Given the description of an element on the screen output the (x, y) to click on. 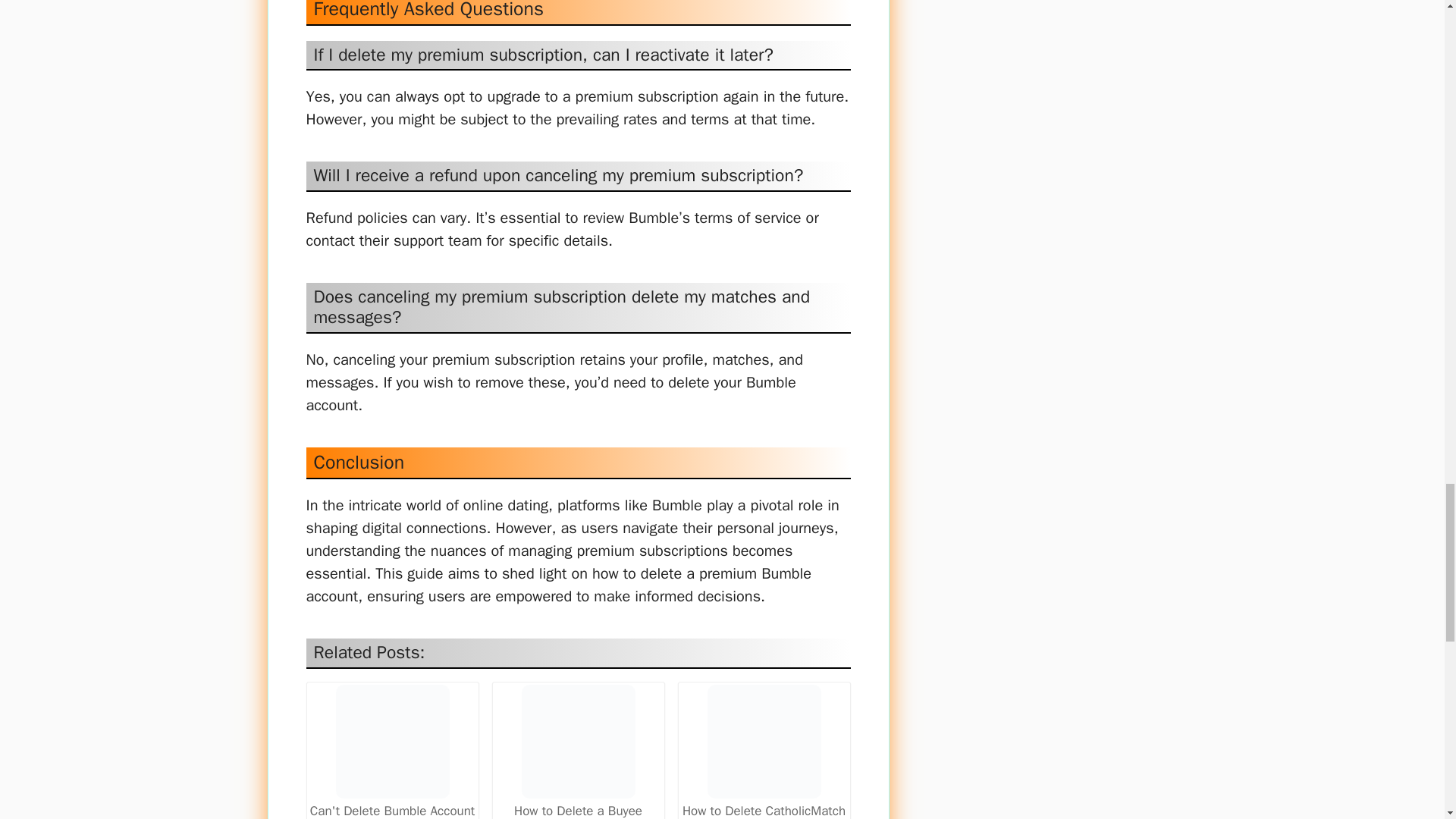
Can't Delete Bumble Account (392, 753)
How to Delete a Buyee Account (578, 752)
How to Delete CatholicMatch Account (764, 751)
Can't Delete Bumble Account (391, 741)
